Given the description of an element on the screen output the (x, y) to click on. 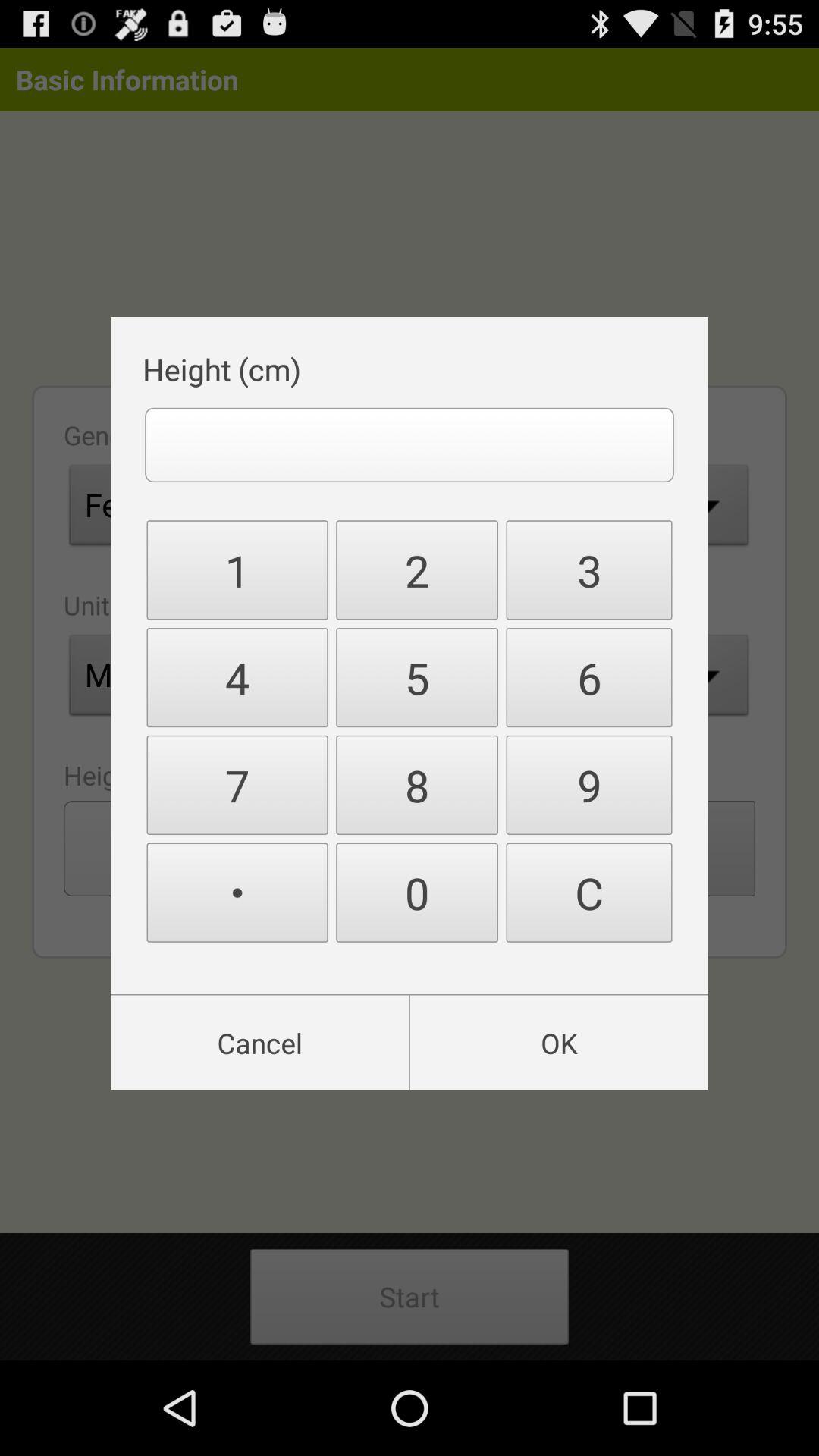
click the icon to the right of the 8 item (589, 892)
